Given the description of an element on the screen output the (x, y) to click on. 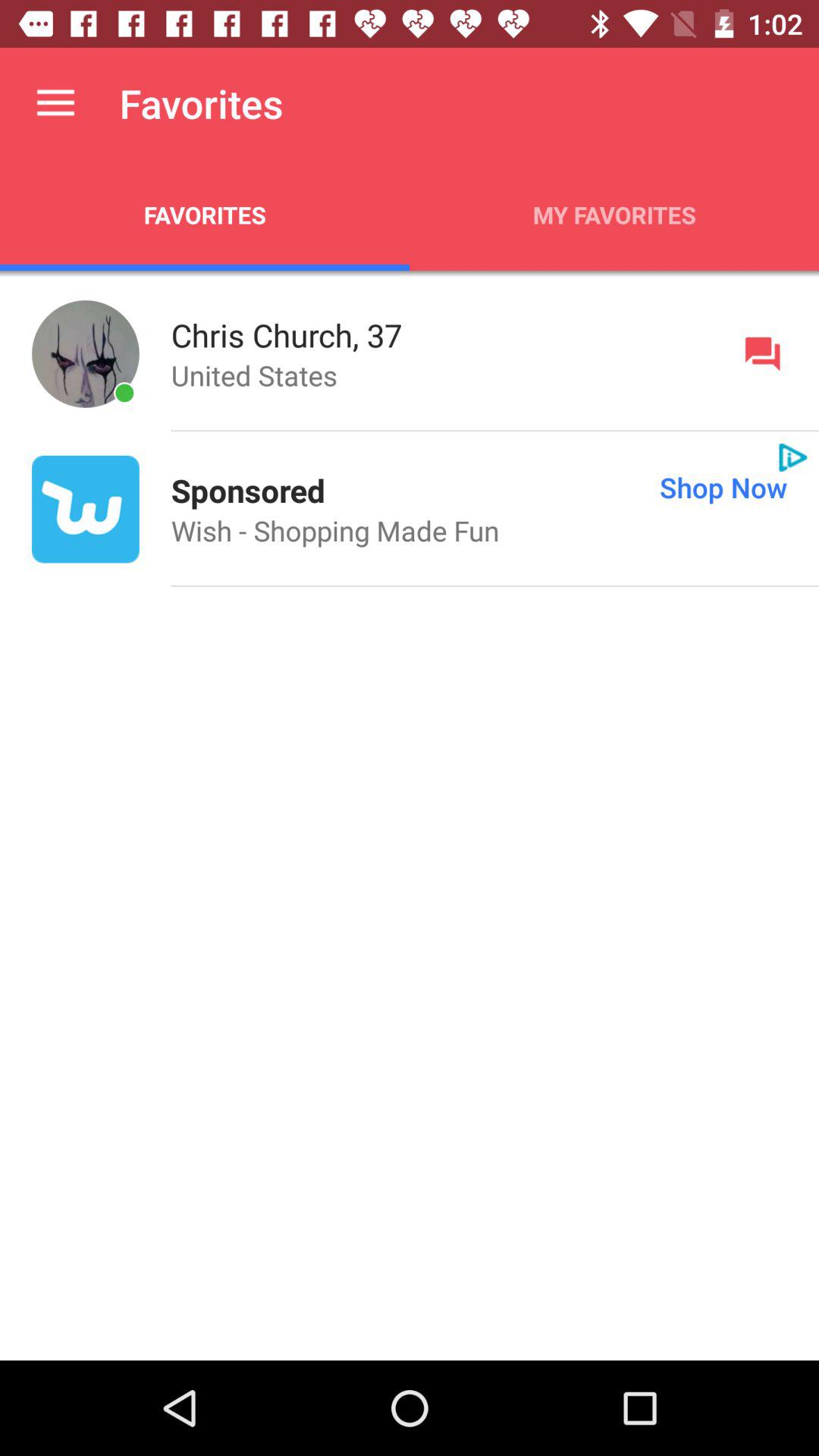
select the icon above favorites (55, 103)
